Given the description of an element on the screen output the (x, y) to click on. 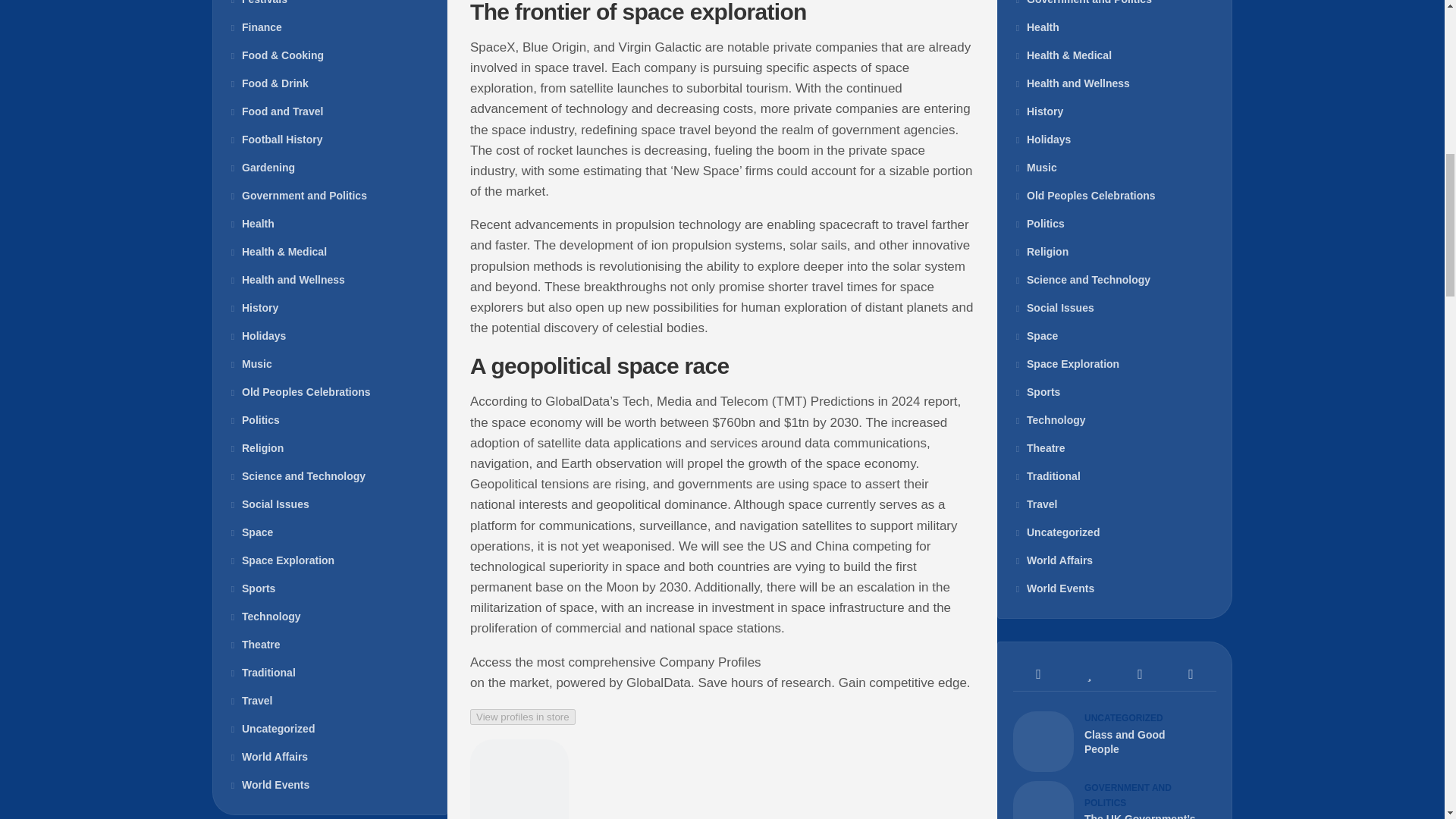
Popular Posts (1089, 674)
Recent Posts (1038, 674)
View profiles in store (522, 716)
